Given the description of an element on the screen output the (x, y) to click on. 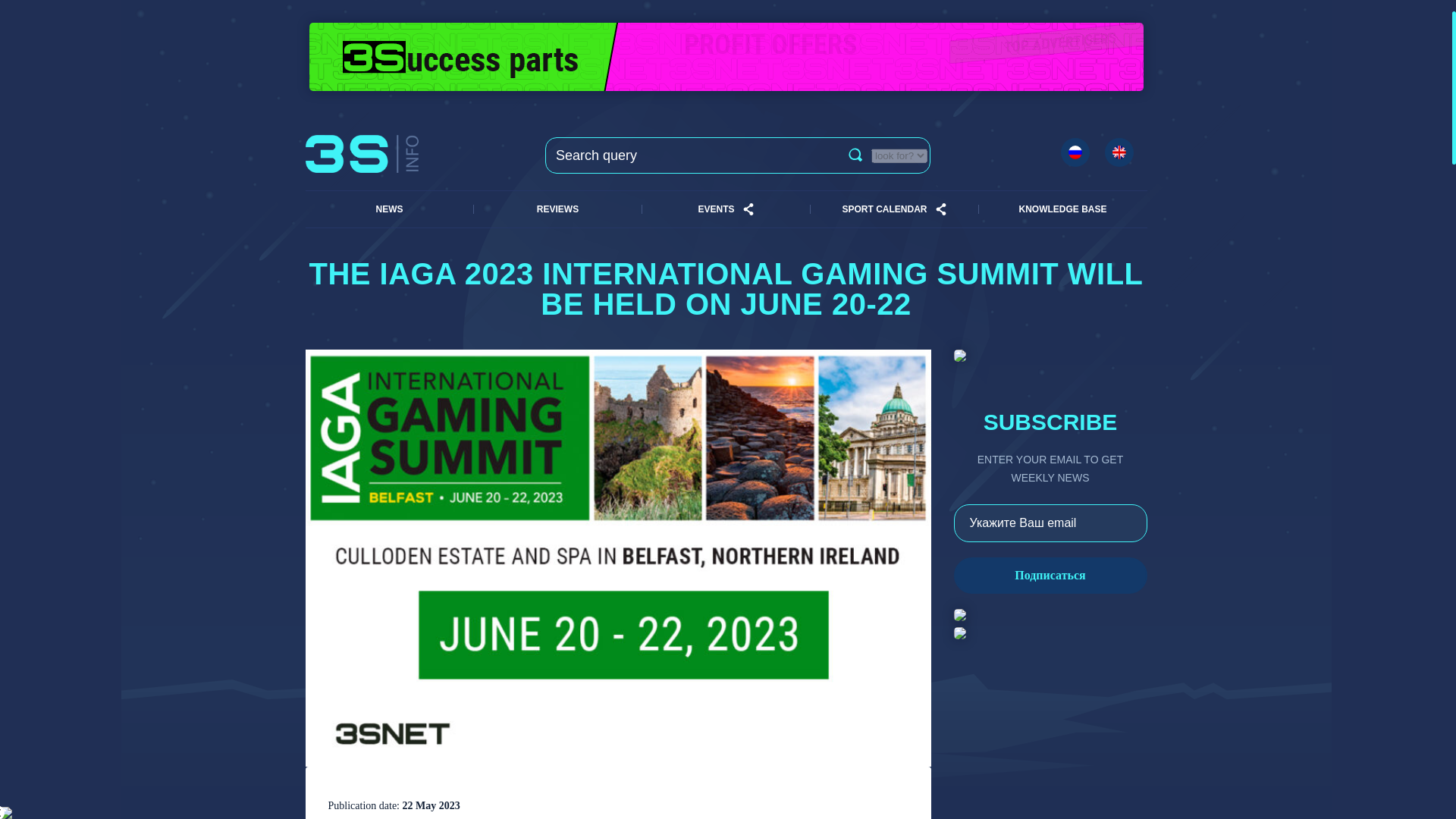
EVENTS (715, 208)
KNOWLEDGE BASE (1062, 208)
SPORT CALENDAR (883, 208)
REVIEWS (557, 208)
NEWS (388, 208)
